Given the description of an element on the screen output the (x, y) to click on. 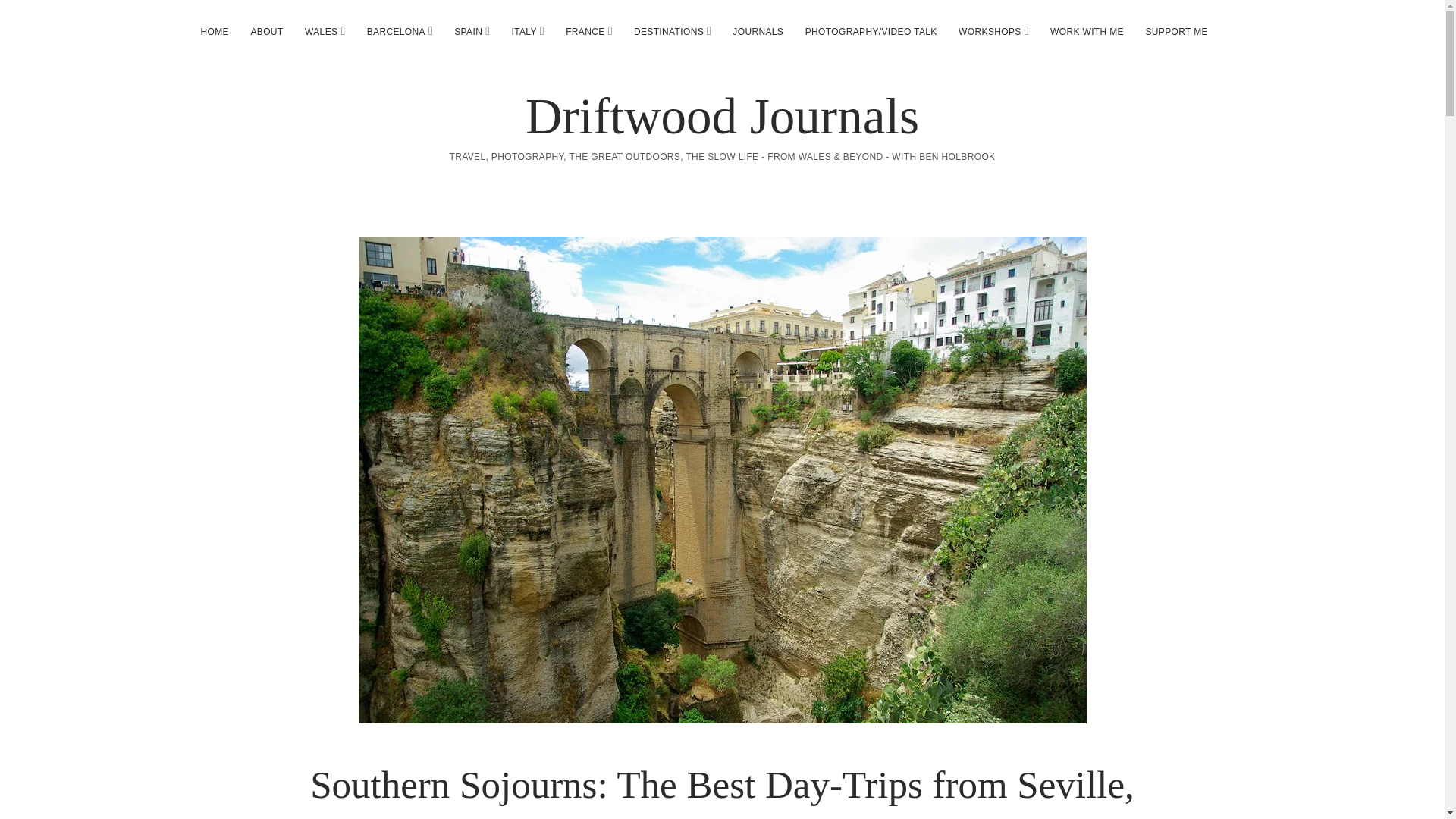
ABOUT (266, 31)
HOME (213, 31)
ITALY (523, 31)
SPAIN (468, 31)
BARCELONA (395, 31)
FRANCE (585, 31)
WALES (320, 31)
